Given the description of an element on the screen output the (x, y) to click on. 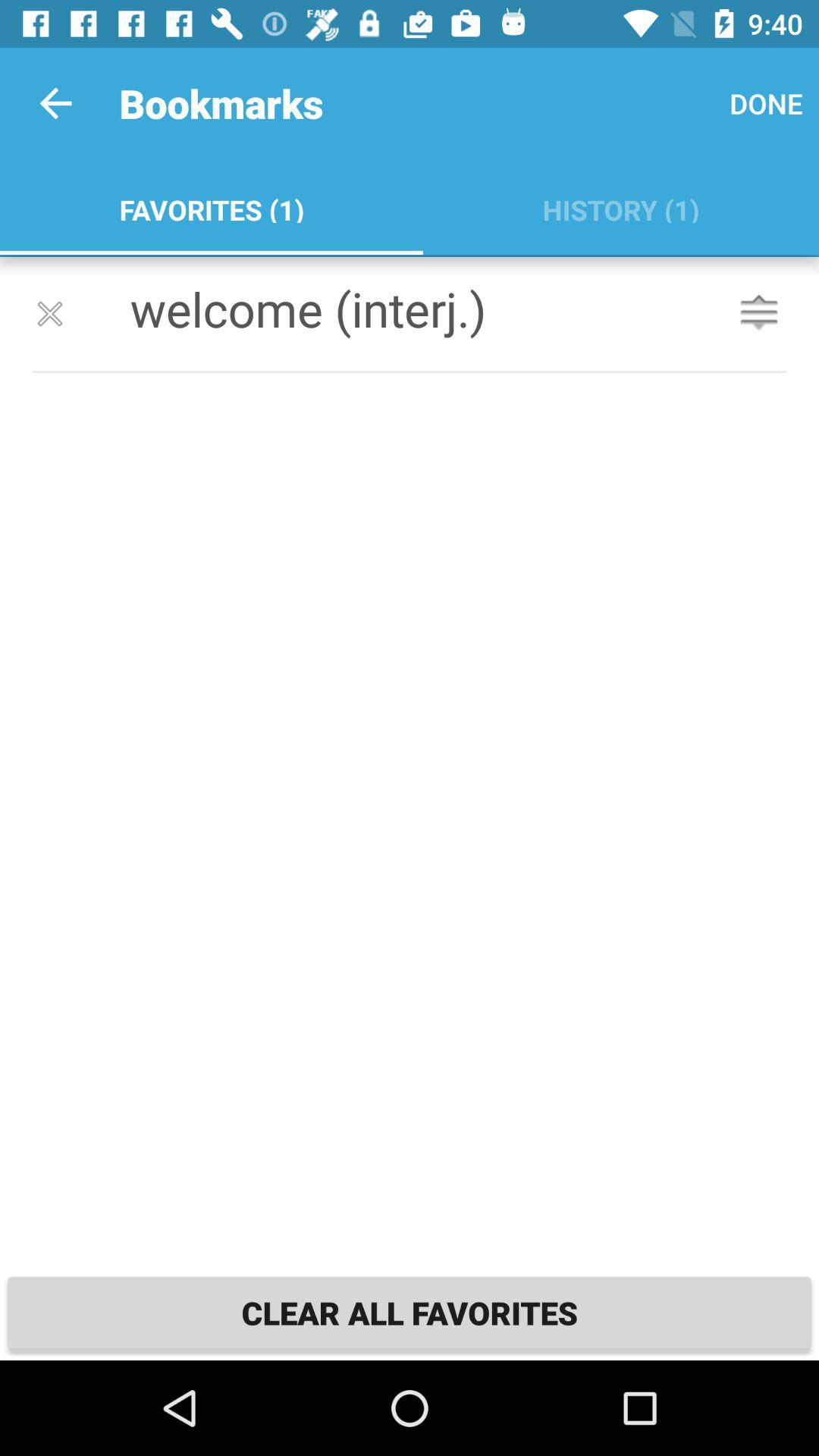
click history (1) item (621, 206)
